Given the description of an element on the screen output the (x, y) to click on. 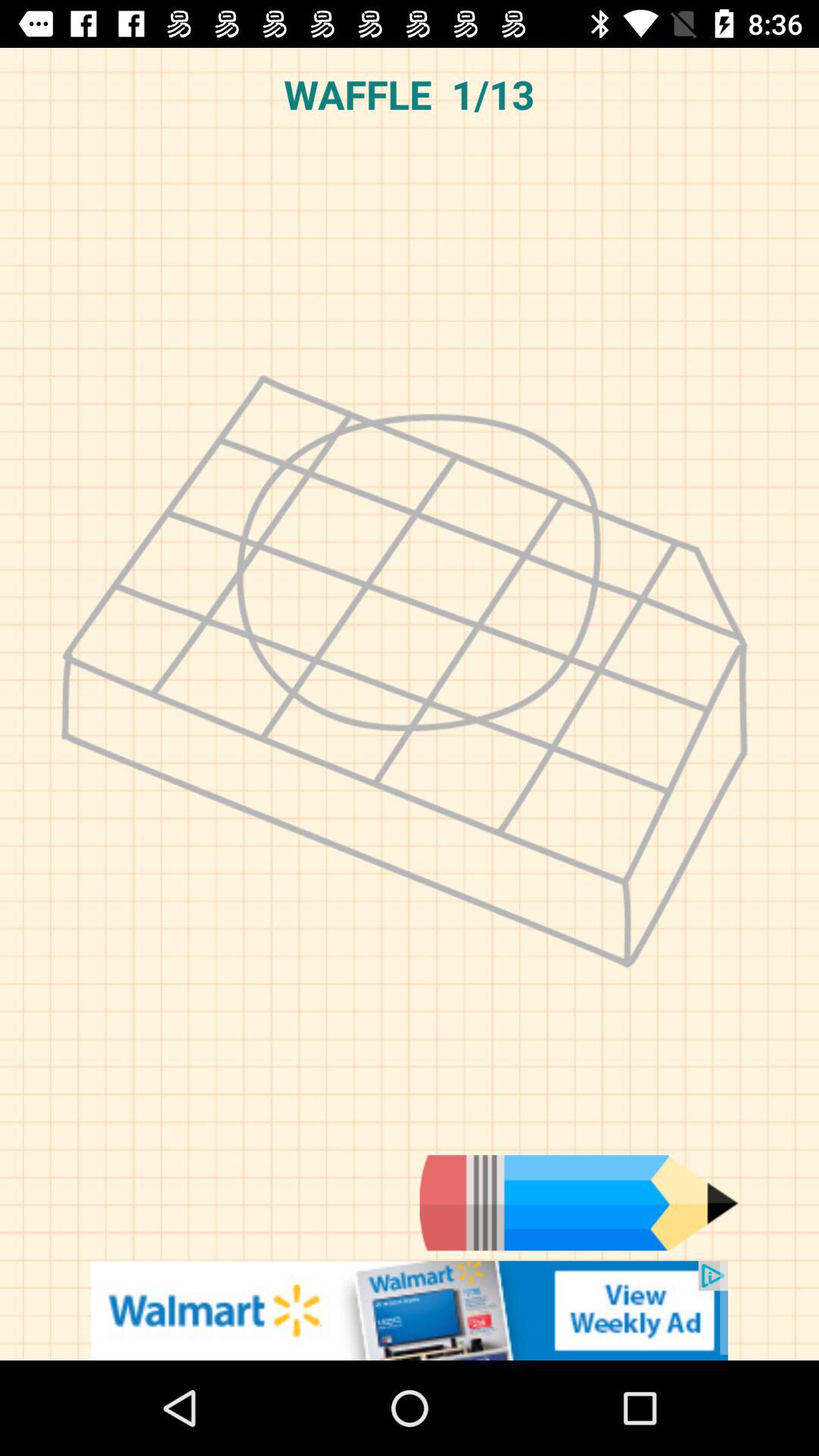
to draw (578, 1202)
